Given the description of an element on the screen output the (x, y) to click on. 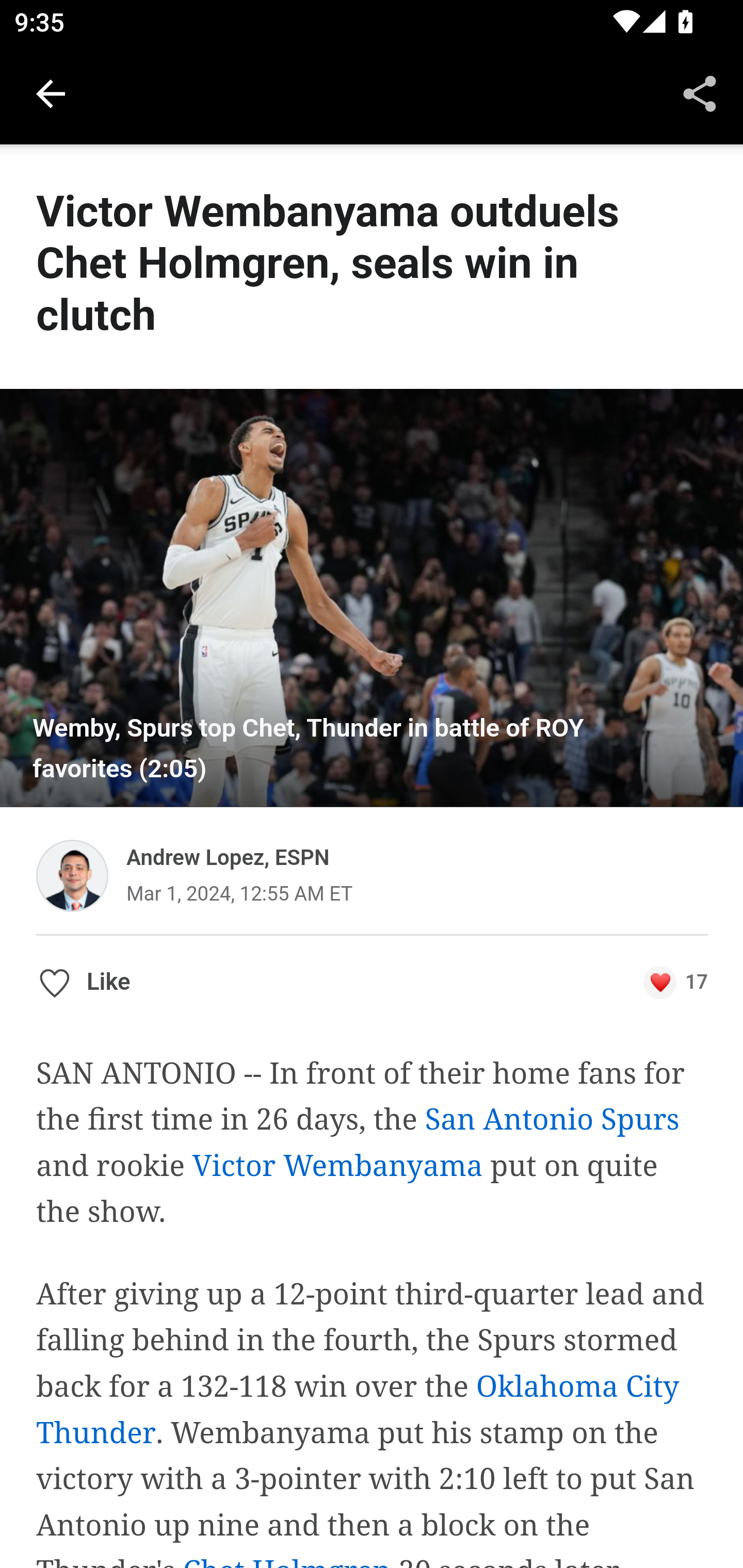
Navigate up (50, 93)
Share (699, 93)
